Given the description of an element on the screen output the (x, y) to click on. 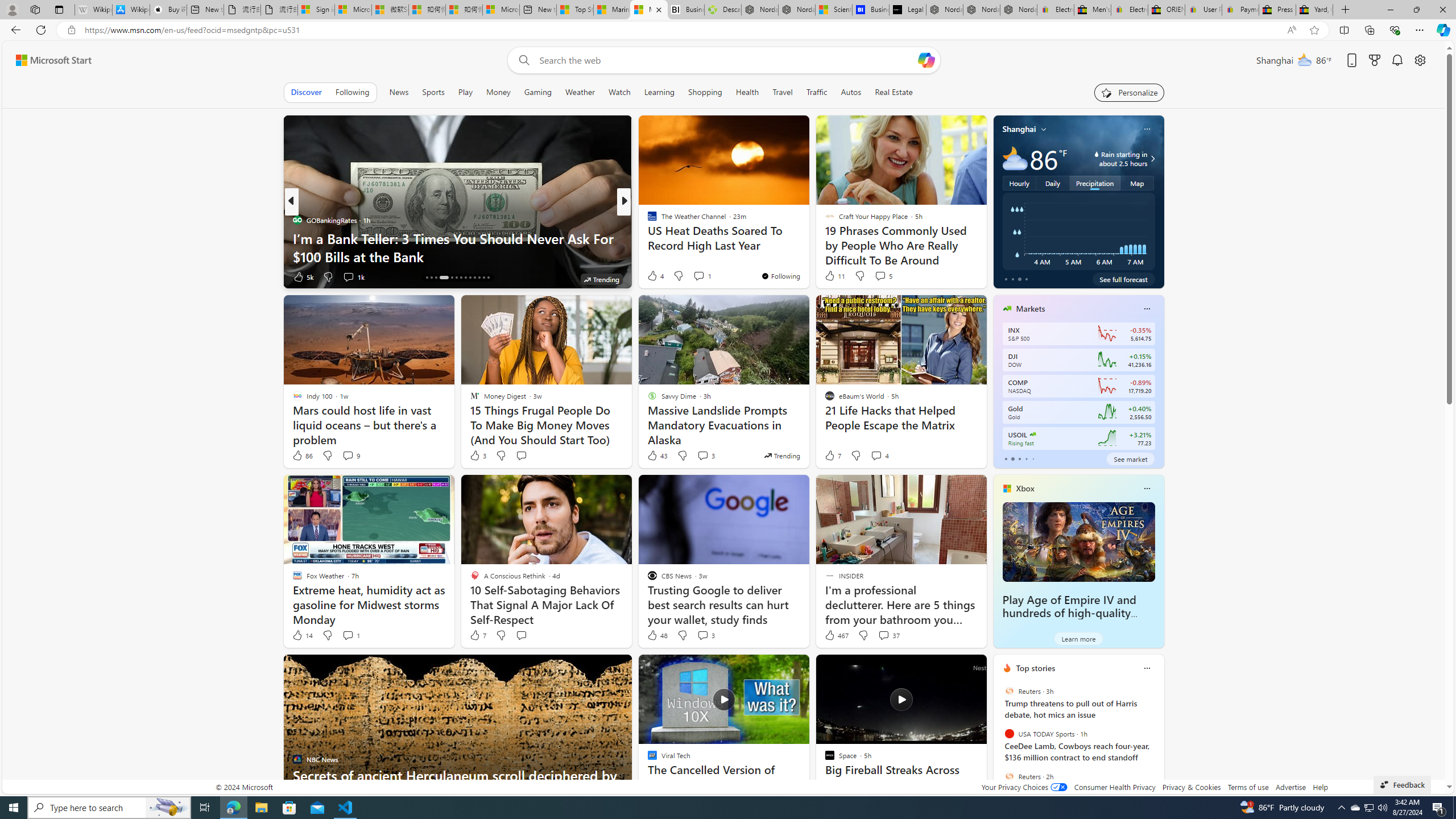
The Register (647, 238)
13 Like (652, 276)
Hourly (1018, 183)
86 Like (301, 455)
Map (1137, 183)
Skip to content (49, 59)
Health (746, 92)
View comments 3 Comment (705, 634)
Learning (659, 92)
AutomationID: tab-16 (435, 277)
Enter your search term (726, 59)
View comments 13 Comment (6, 276)
